Given the description of an element on the screen output the (x, y) to click on. 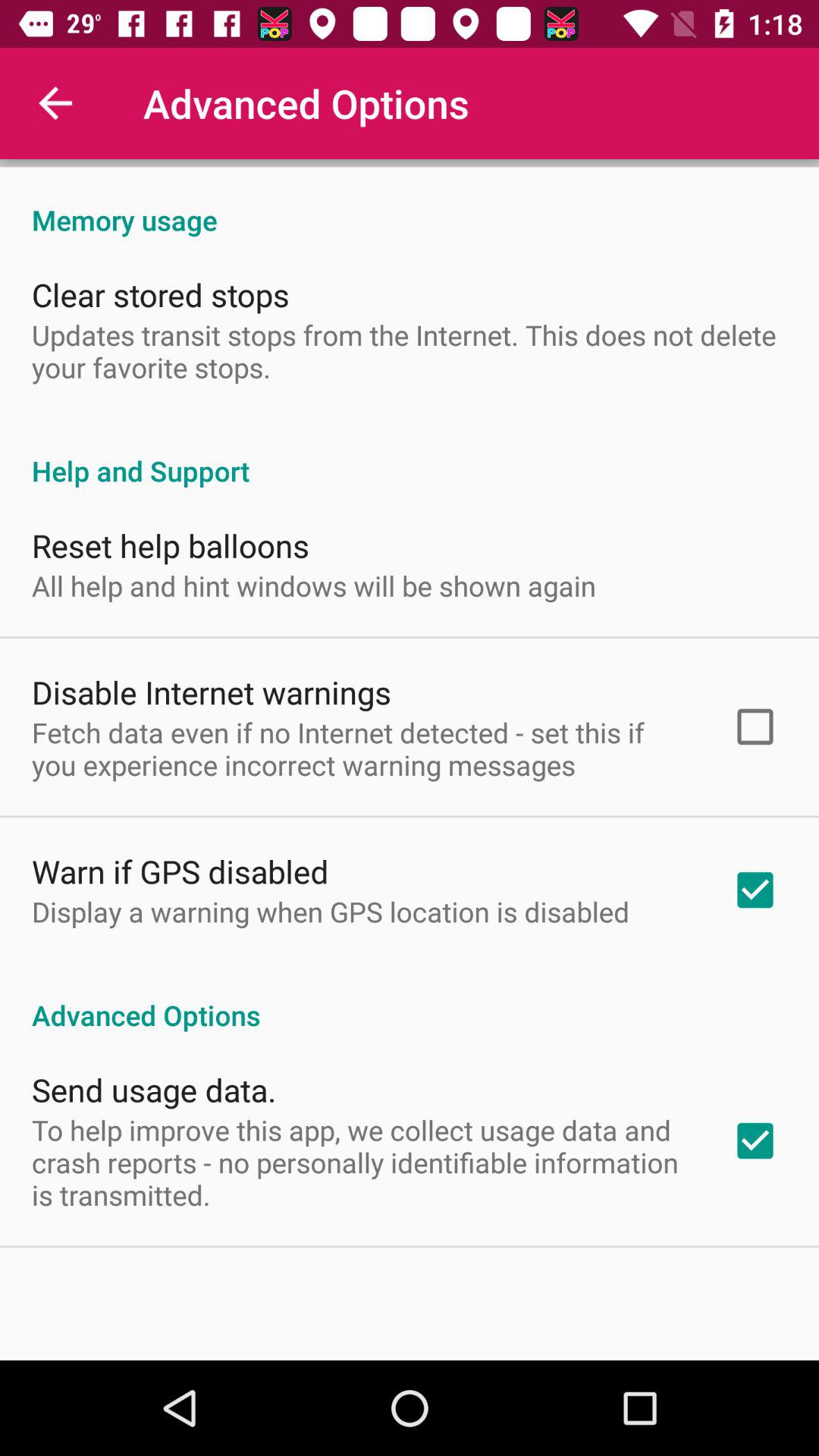
turn off the icon below the disable internet warnings (361, 748)
